Given the description of an element on the screen output the (x, y) to click on. 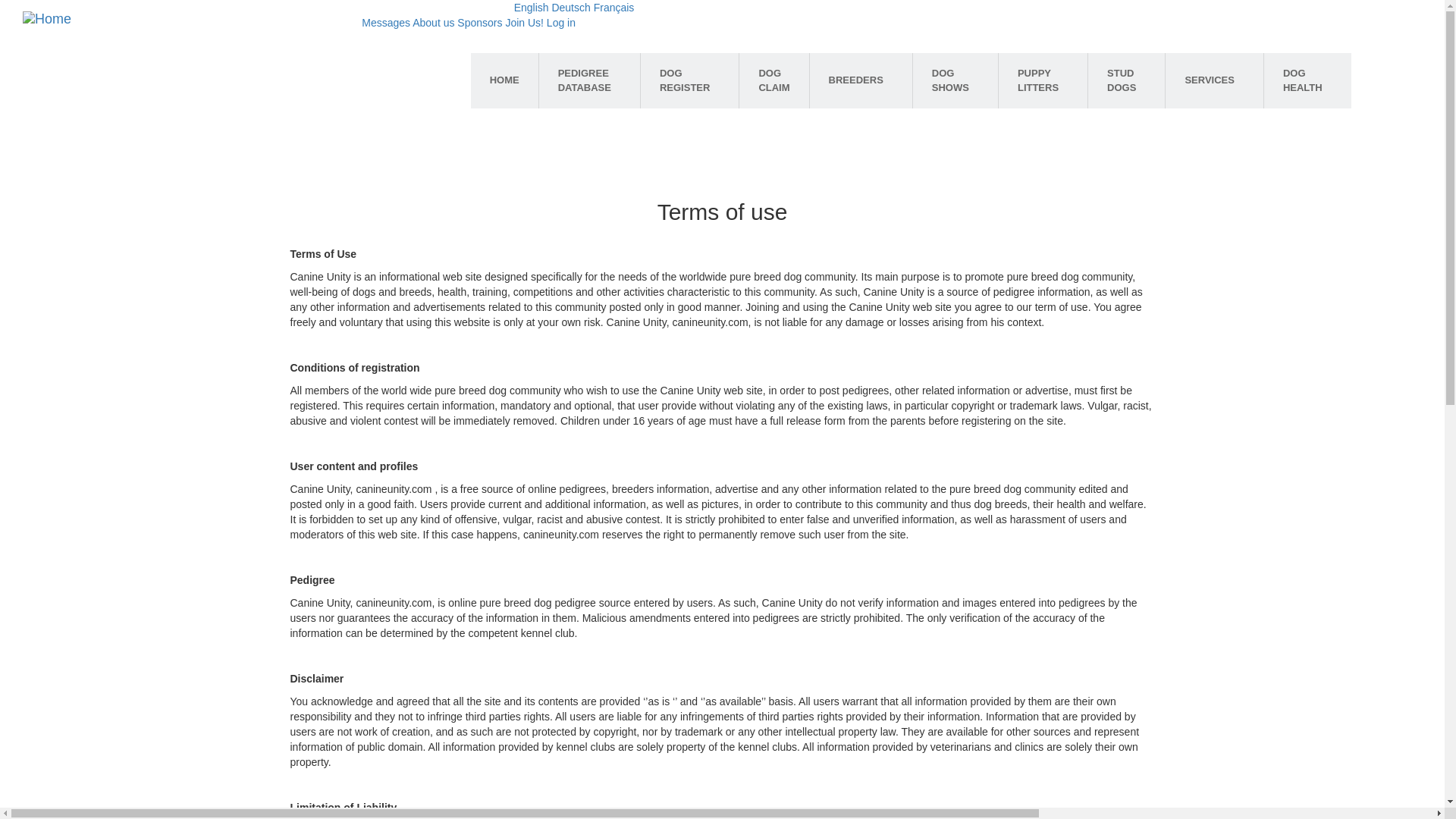
PEDIGREE DATABASE (589, 80)
HOME (504, 80)
Log in (561, 22)
Messages (385, 22)
English (530, 7)
Sponsors (479, 22)
Join Us! (524, 22)
About us (433, 22)
DOG REGISTER (689, 80)
Home (46, 18)
